Given the description of an element on the screen output the (x, y) to click on. 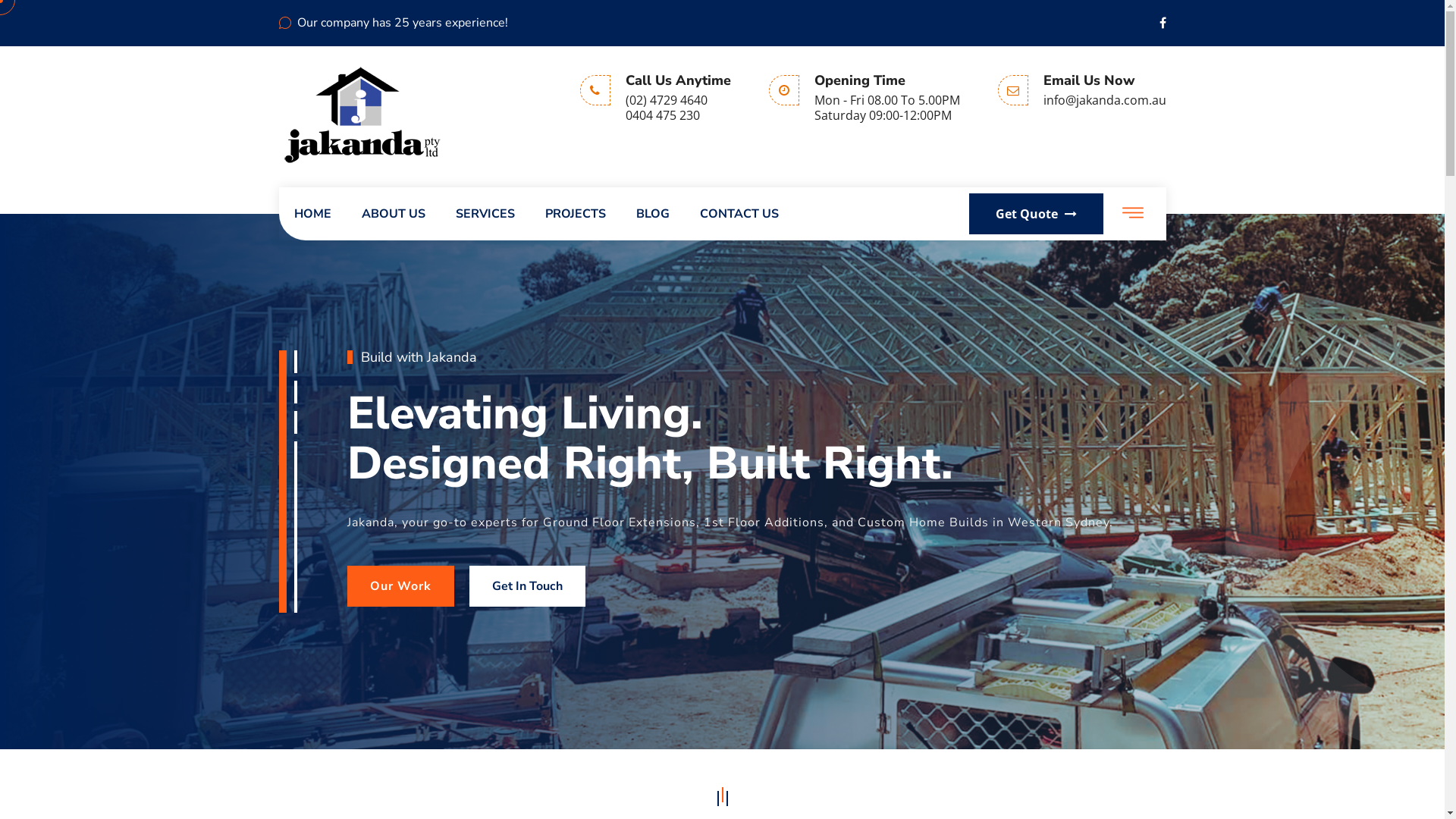
ABOUT US Element type: text (392, 213)
Get Quote Element type: text (1036, 213)
CONTACT US Element type: text (738, 213)
SERVICES Element type: text (484, 213)
BLOG Element type: text (652, 213)
Get In Touch Element type: text (526, 585)
Our Work Element type: text (400, 585)
HOME Element type: text (312, 213)
Builderexpert Element type: hover (362, 113)
PROJECTS Element type: text (574, 213)
